Given the description of an element on the screen output the (x, y) to click on. 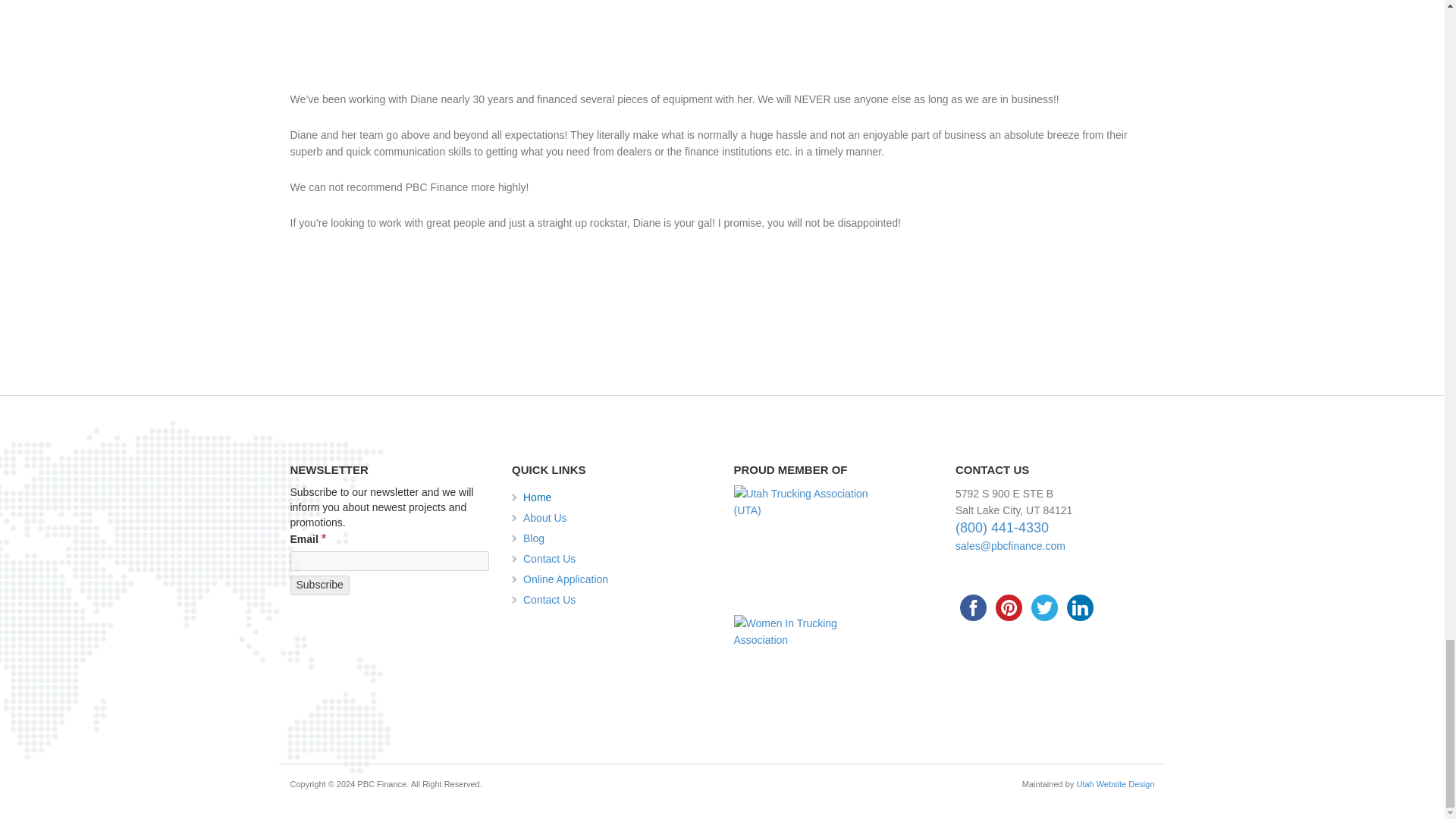
Online Application (616, 577)
Home (616, 495)
Subscribe (319, 585)
About Us (616, 516)
facebook (973, 607)
Blog (616, 536)
twitter (1044, 607)
pinterest (1008, 607)
Contact Us (616, 557)
linkedin (1079, 607)
